Given the description of an element on the screen output the (x, y) to click on. 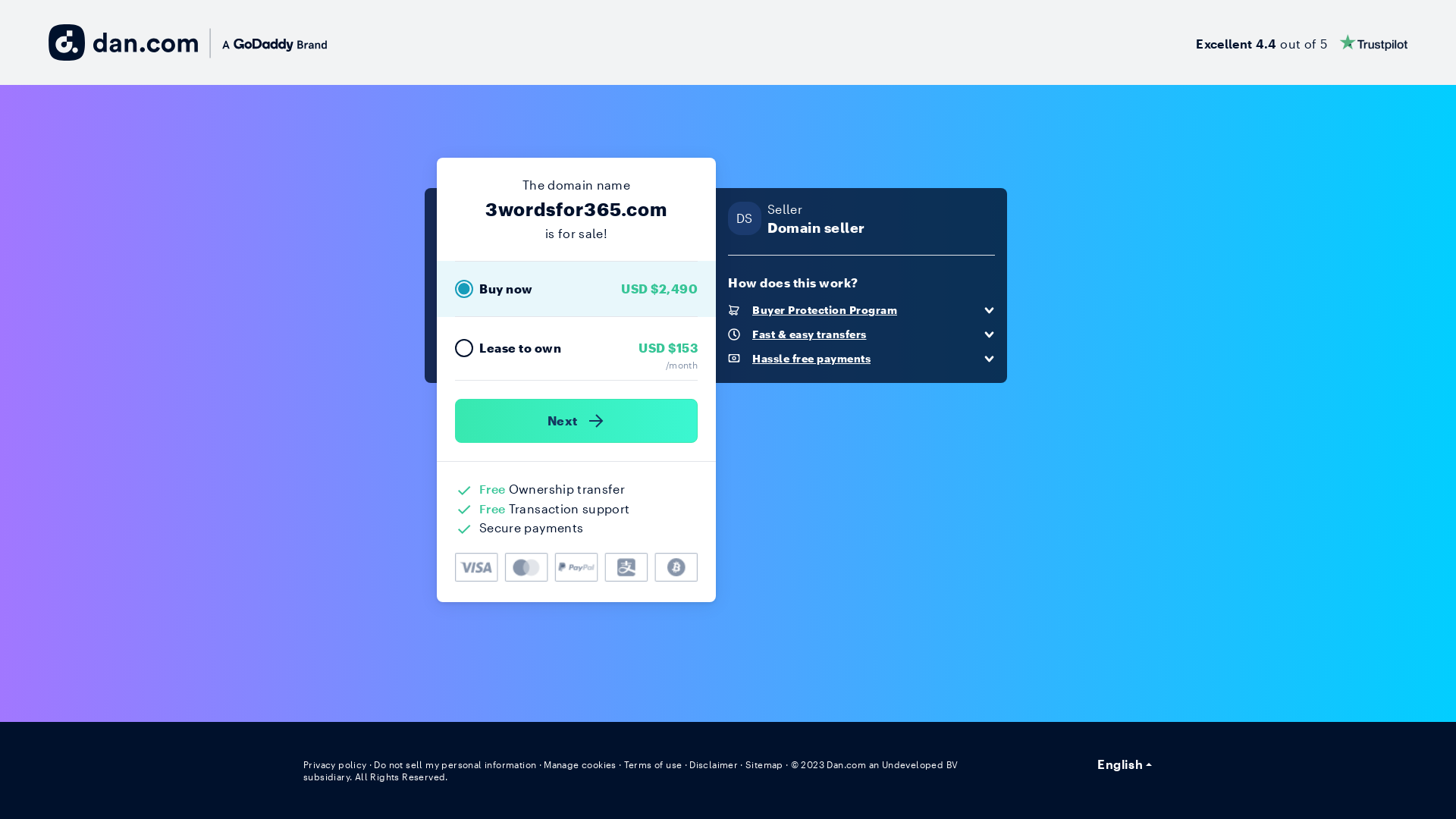
Next
) Element type: text (576, 420)
Terms of use Element type: text (653, 764)
Disclaimer Element type: text (713, 764)
Manage cookies Element type: text (579, 764)
Excellent 4.4 out of 5 Element type: text (1301, 42)
Sitemap Element type: text (764, 764)
Do not sell my personal information Element type: text (454, 764)
English Element type: text (1124, 764)
Privacy policy Element type: text (335, 764)
